Given the description of an element on the screen output the (x, y) to click on. 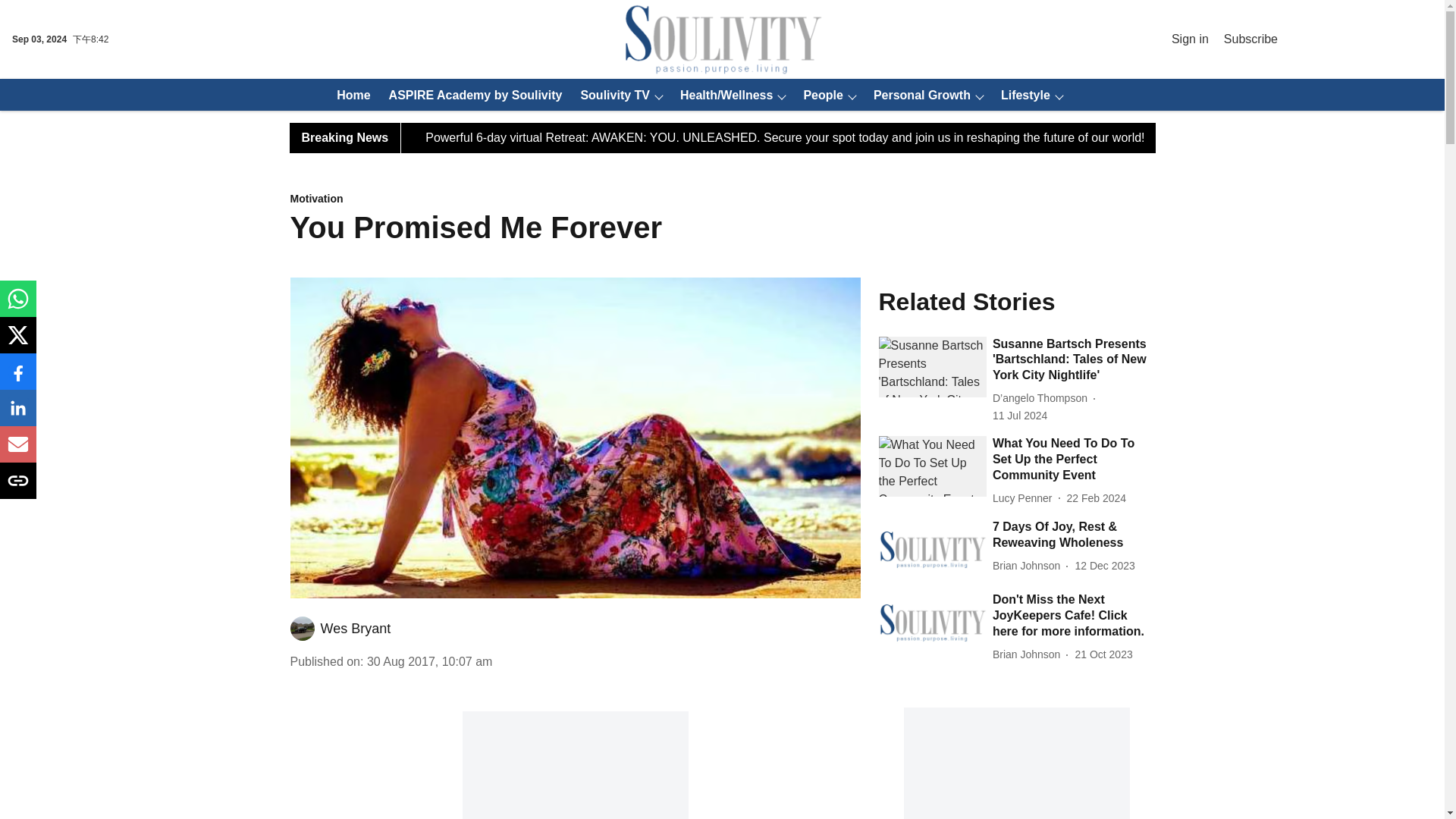
Personal Growth (917, 95)
Soulivity TV (609, 95)
2024-02-21 18:53 (1096, 498)
ASPIRE Academy by Soulivity (471, 95)
2023-10-20 16:50 (1103, 654)
People (818, 95)
Motivation (574, 199)
Home (348, 95)
2024-07-11 13:20 (1019, 415)
